Given the description of an element on the screen output the (x, y) to click on. 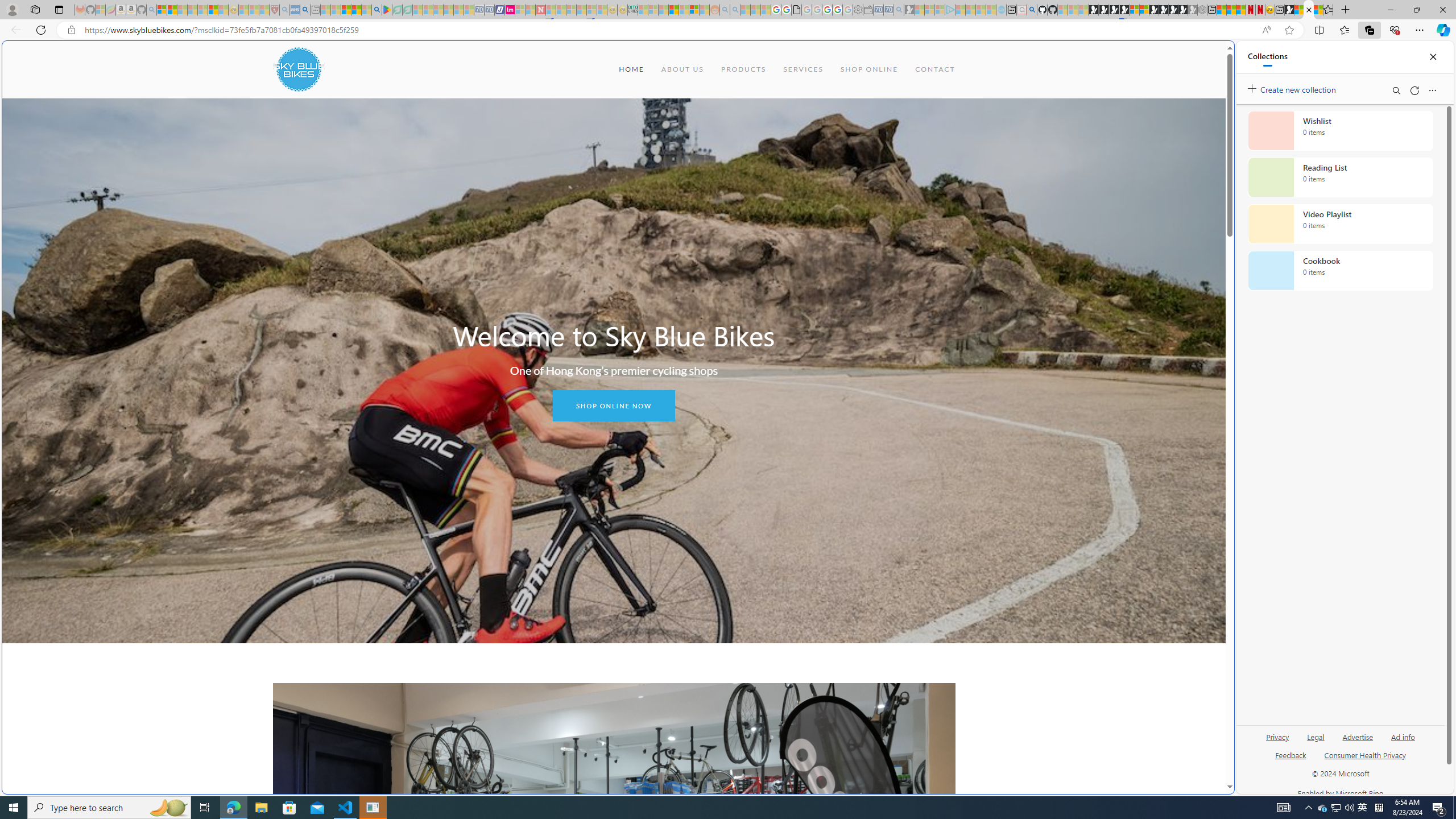
github - Search (1032, 9)
ABOUT US (681, 68)
Jobs - lastminute.com Investor Portal (509, 9)
Tabs you've opened (885, 151)
Close split screen (1208, 57)
